Given the description of an element on the screen output the (x, y) to click on. 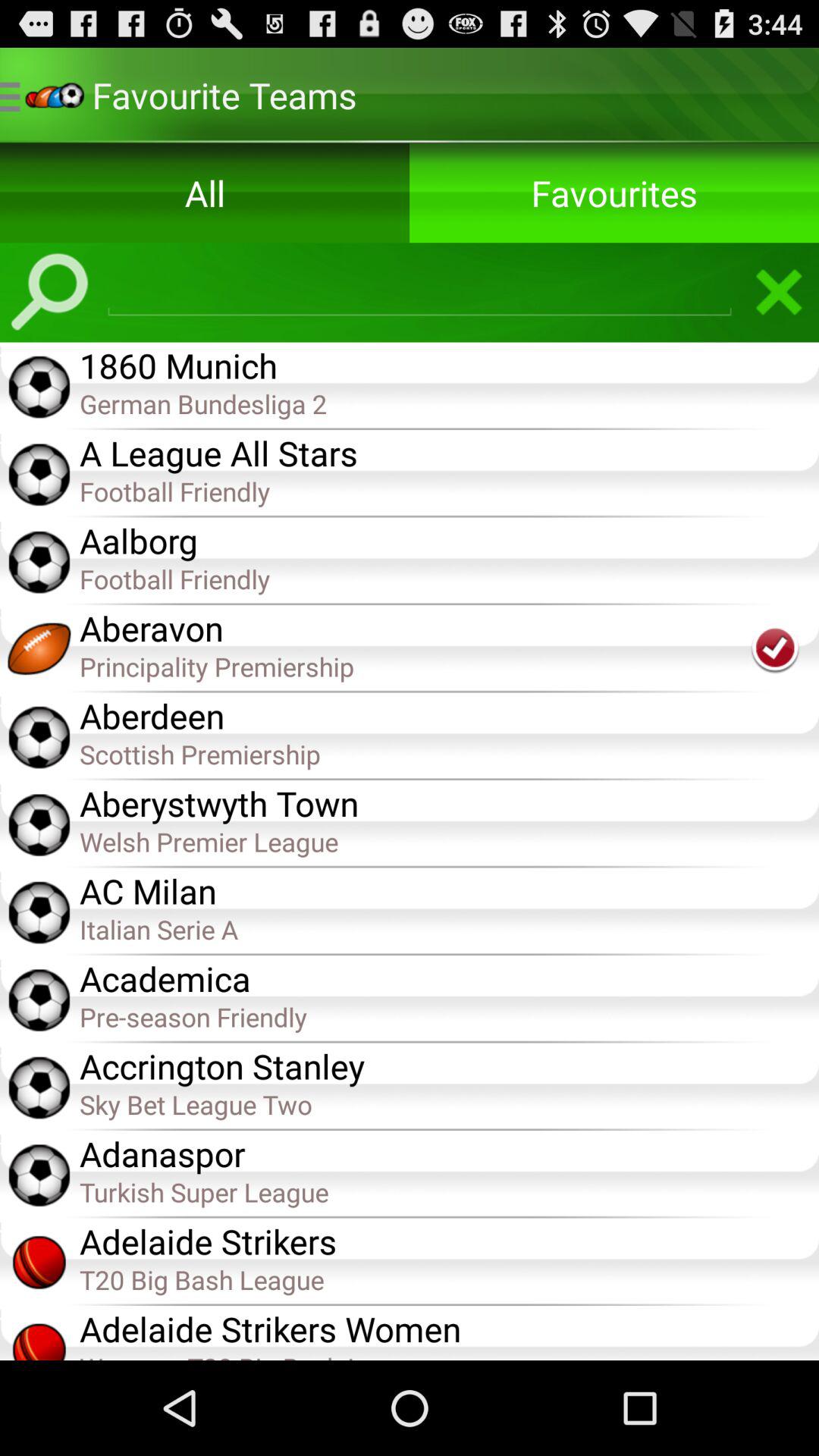
scroll until turkish super league icon (449, 1191)
